Given the description of an element on the screen output the (x, y) to click on. 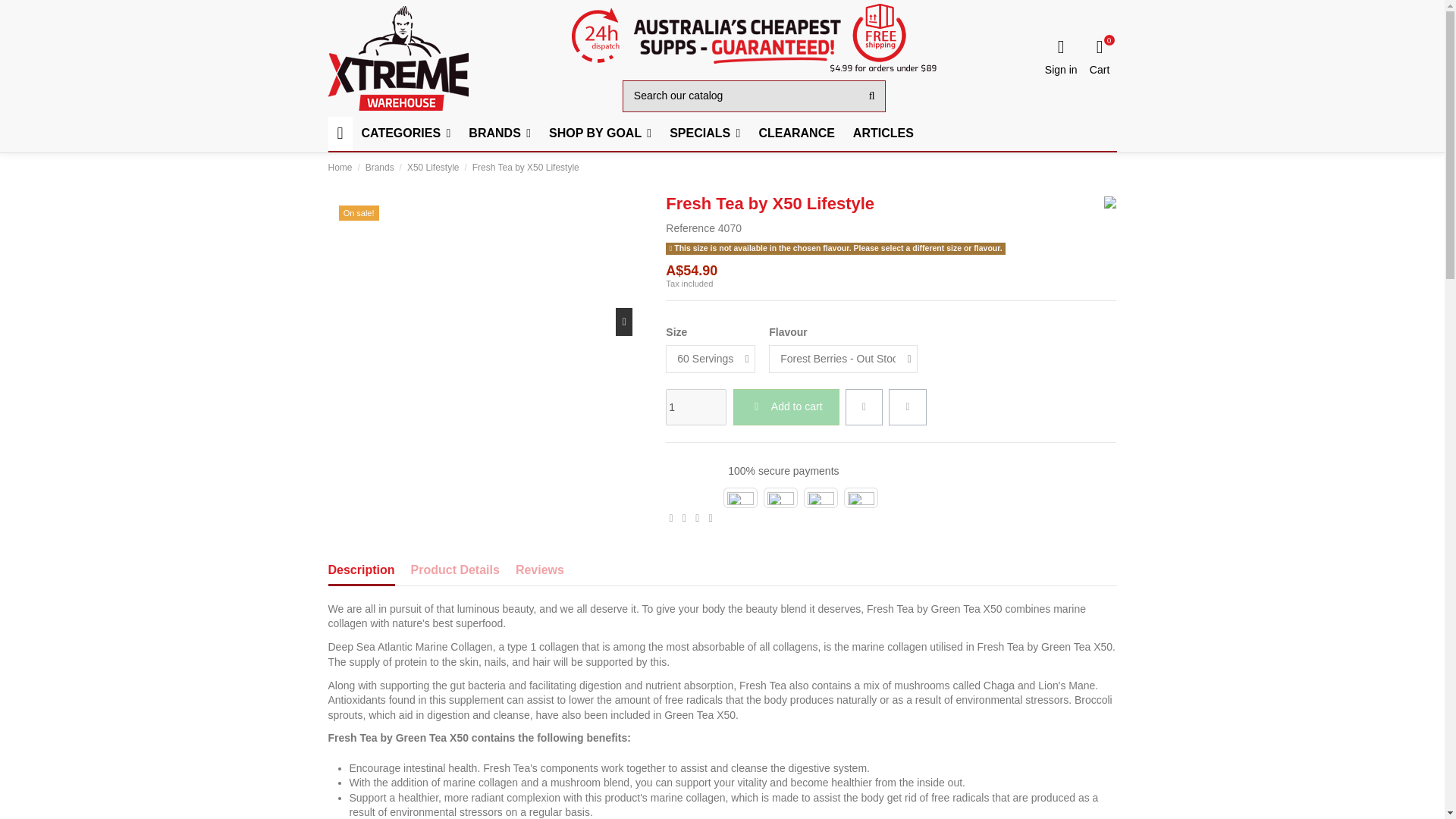
1 (695, 407)
BRANDS (500, 133)
CATEGORIES (406, 133)
